Given the description of an element on the screen output the (x, y) to click on. 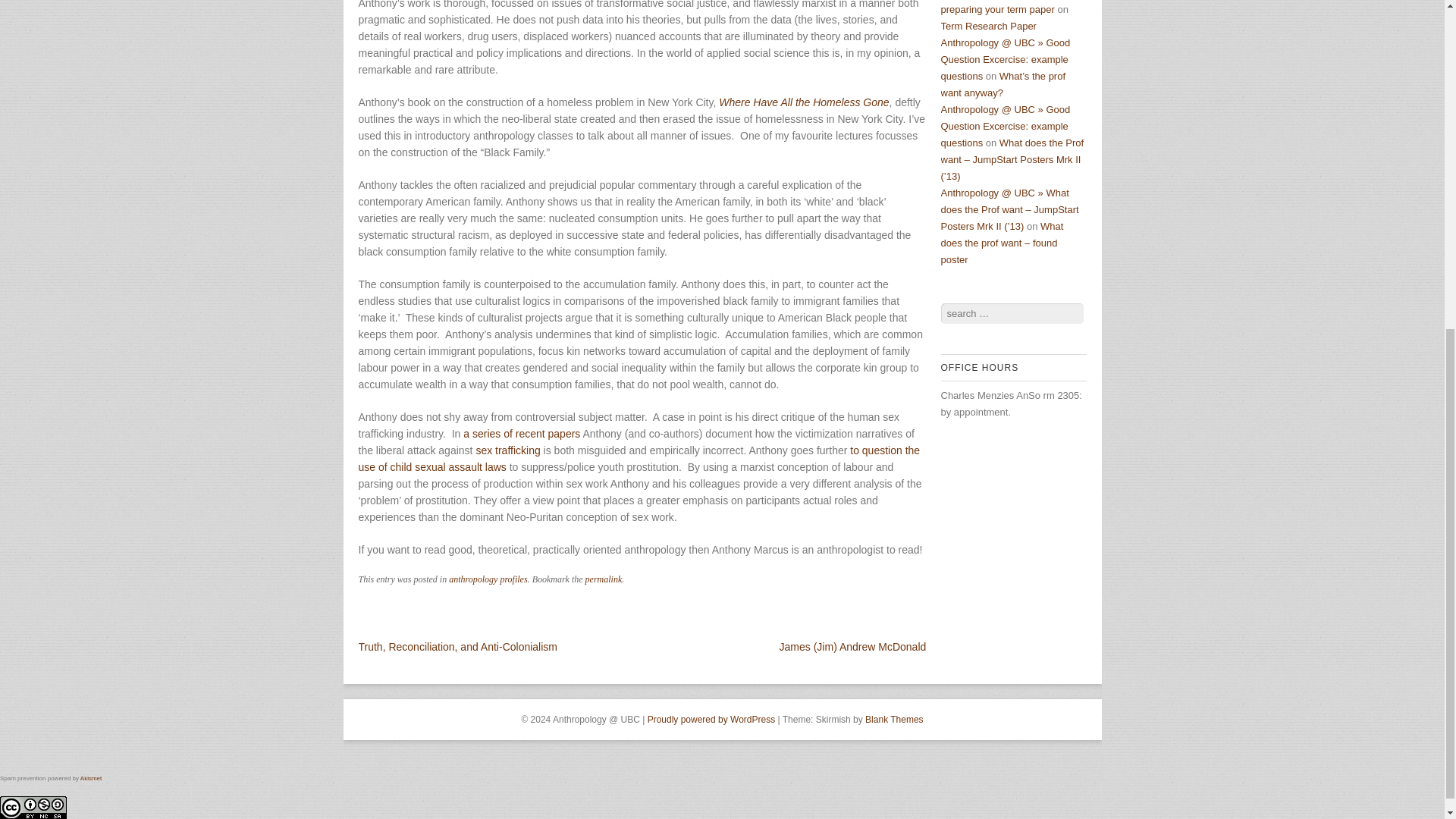
permalink (604, 579)
to question the use of child sexual assault laws (639, 458)
Akismet (90, 778)
anthropology profiles (487, 579)
sex trafficking (508, 450)
Proudly powered by WordPress (711, 719)
a series of recent papers (521, 433)
Term Research Paper (987, 25)
Permalink to Anthony Marcus (604, 579)
A Semantic Personal Publishing Platform (711, 719)
Blank Themes (893, 719)
Truth, Reconciliation, and Anti-Colonialism (457, 646)
Where Have All the Homeless Gone (803, 102)
